Given the description of an element on the screen output the (x, y) to click on. 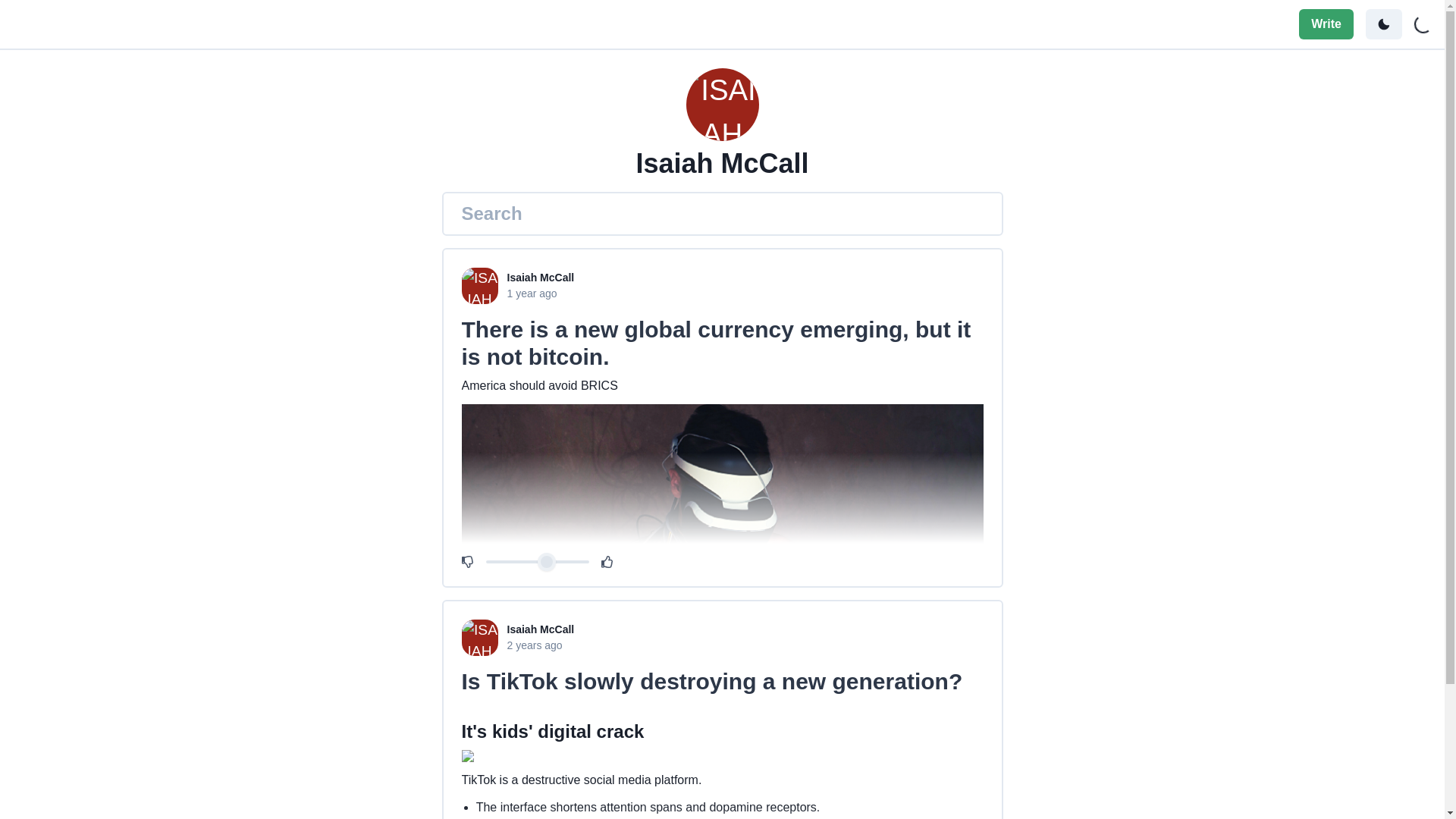
Write (1326, 24)
